Given the description of an element on the screen output the (x, y) to click on. 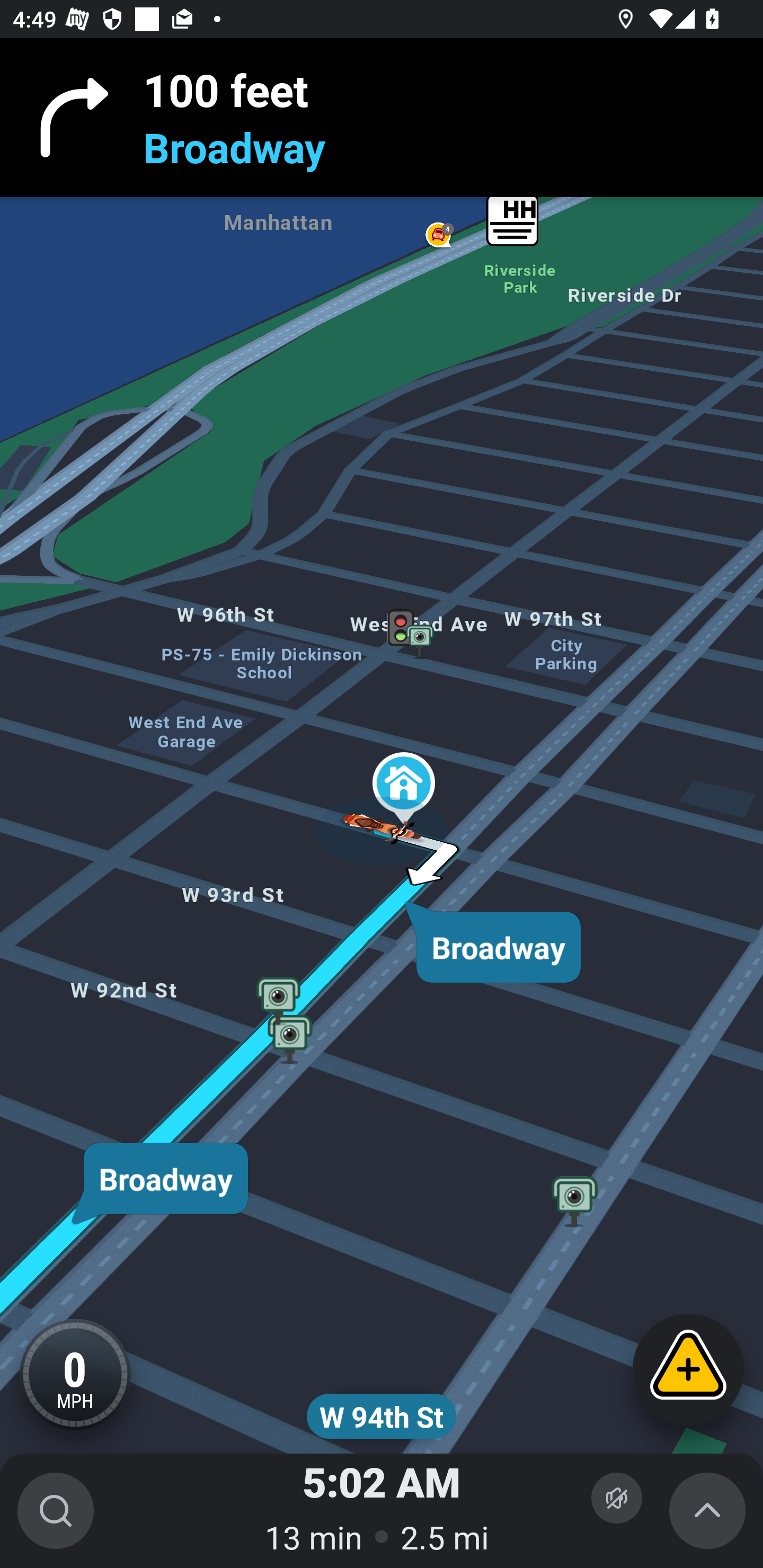
100 feet Broadway (381, 117)
5:02 AM 13 min 2.5 mi (381, 1510)
